Given the description of an element on the screen output the (x, y) to click on. 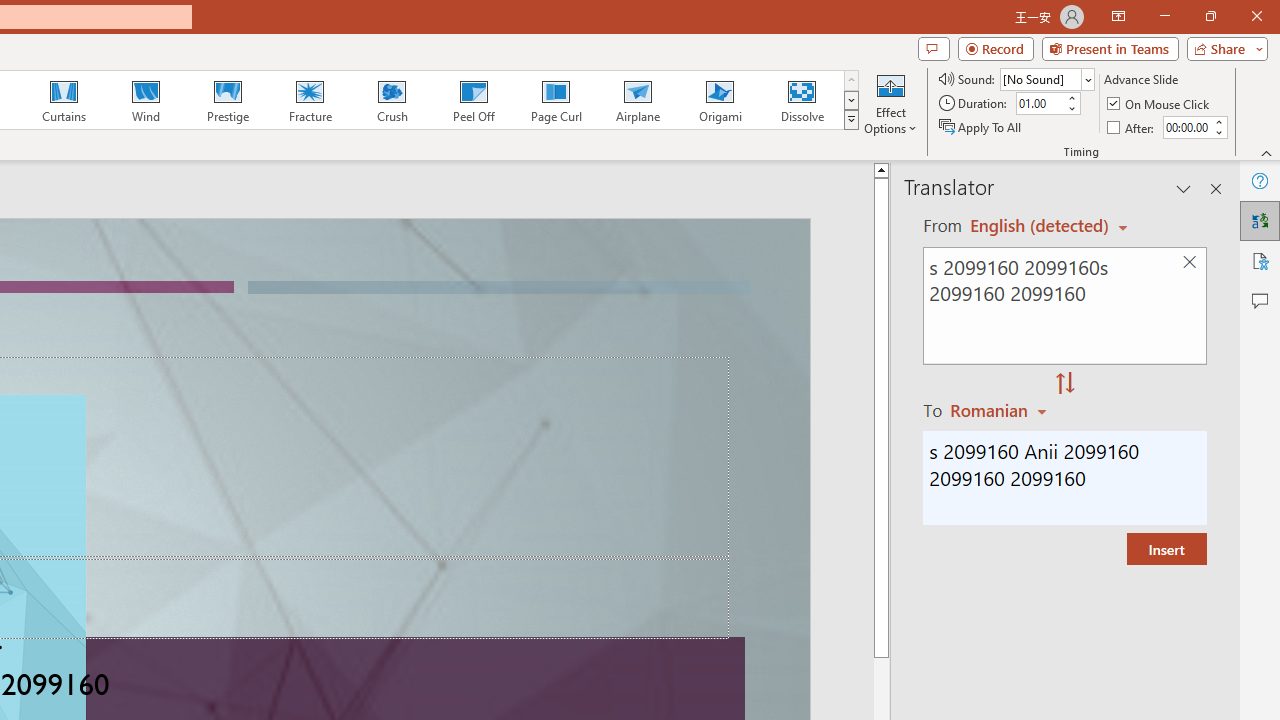
Apply To All (981, 126)
Origami (719, 100)
Sound (1046, 78)
Transition Effects (850, 120)
Curtains (63, 100)
Page Curl (555, 100)
Duration (1039, 103)
